Given the description of an element on the screen output the (x, y) to click on. 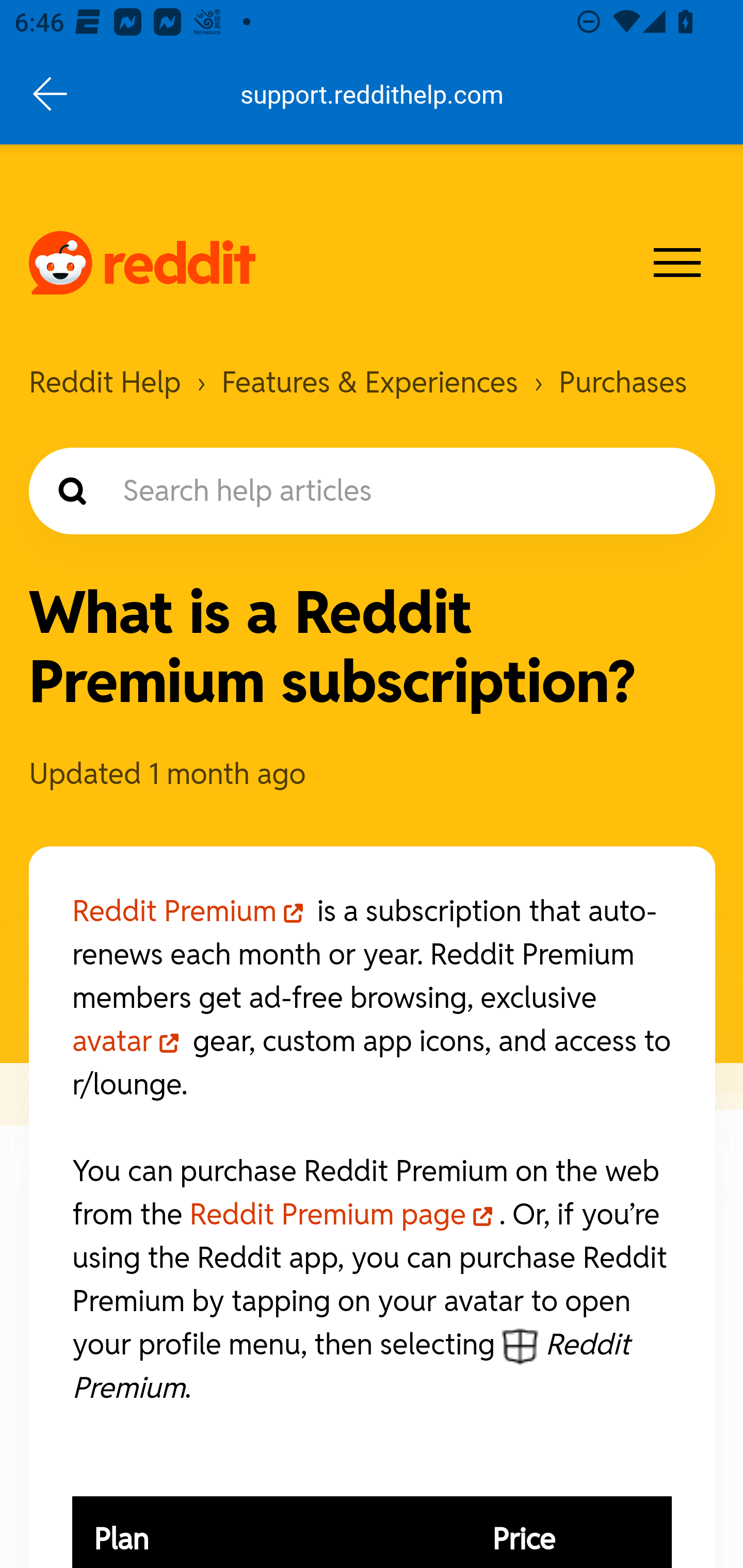
Back (50, 93)
Logo (142, 263)
Toggle navigation menu (677, 262)
Reddit Help (105, 383)
Features & Experiences (370, 383)
Purchases (622, 383)
Reddit Premium Reddit Premium  (192, 910)
avatar avatar  (129, 1040)
Reddit Premium page Reddit Premium page  (343, 1213)
